Given the description of an element on the screen output the (x, y) to click on. 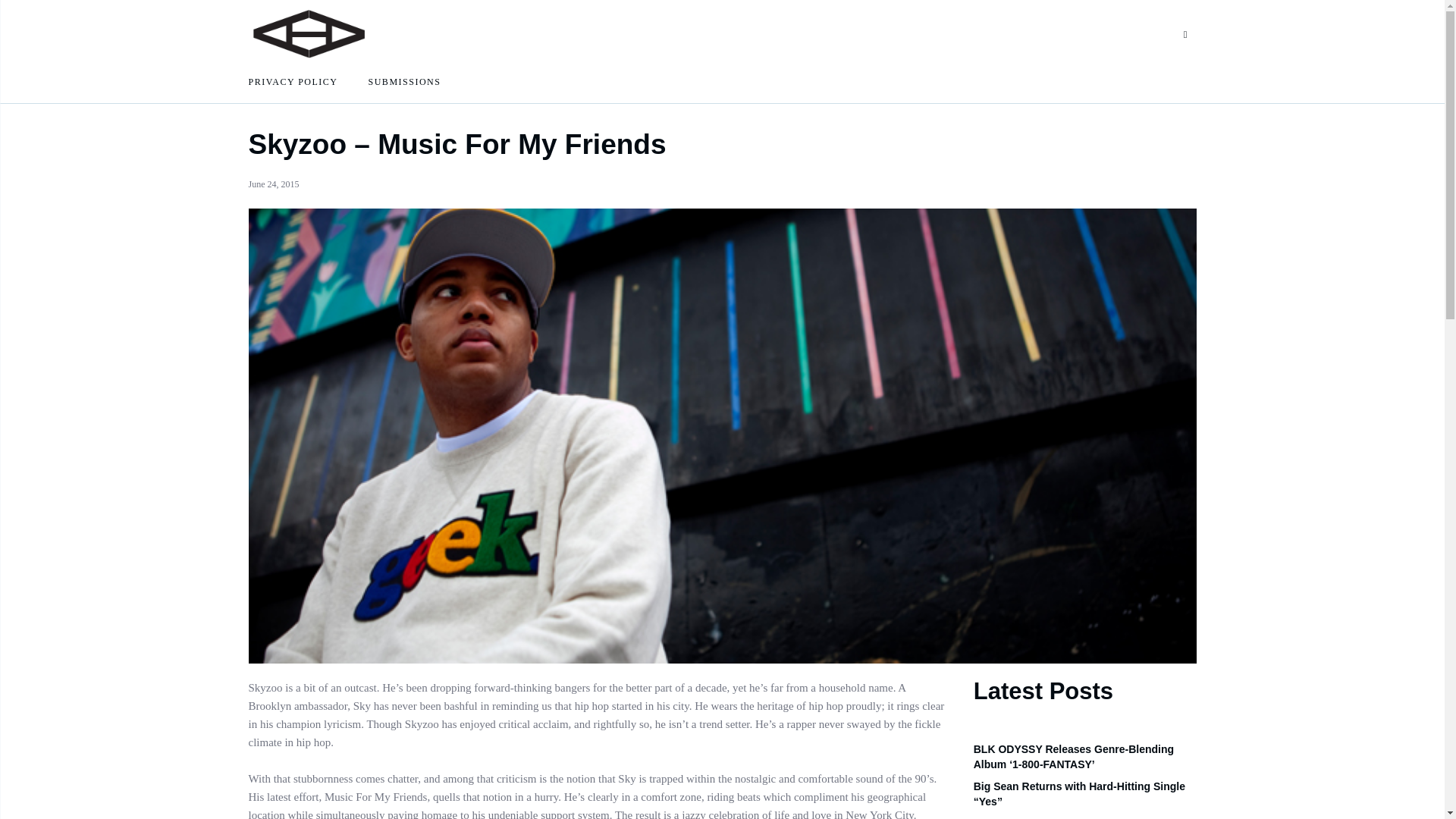
SUBMISSIONS (404, 82)
PRIVACY POLICY (292, 82)
